Given the description of an element on the screen output the (x, y) to click on. 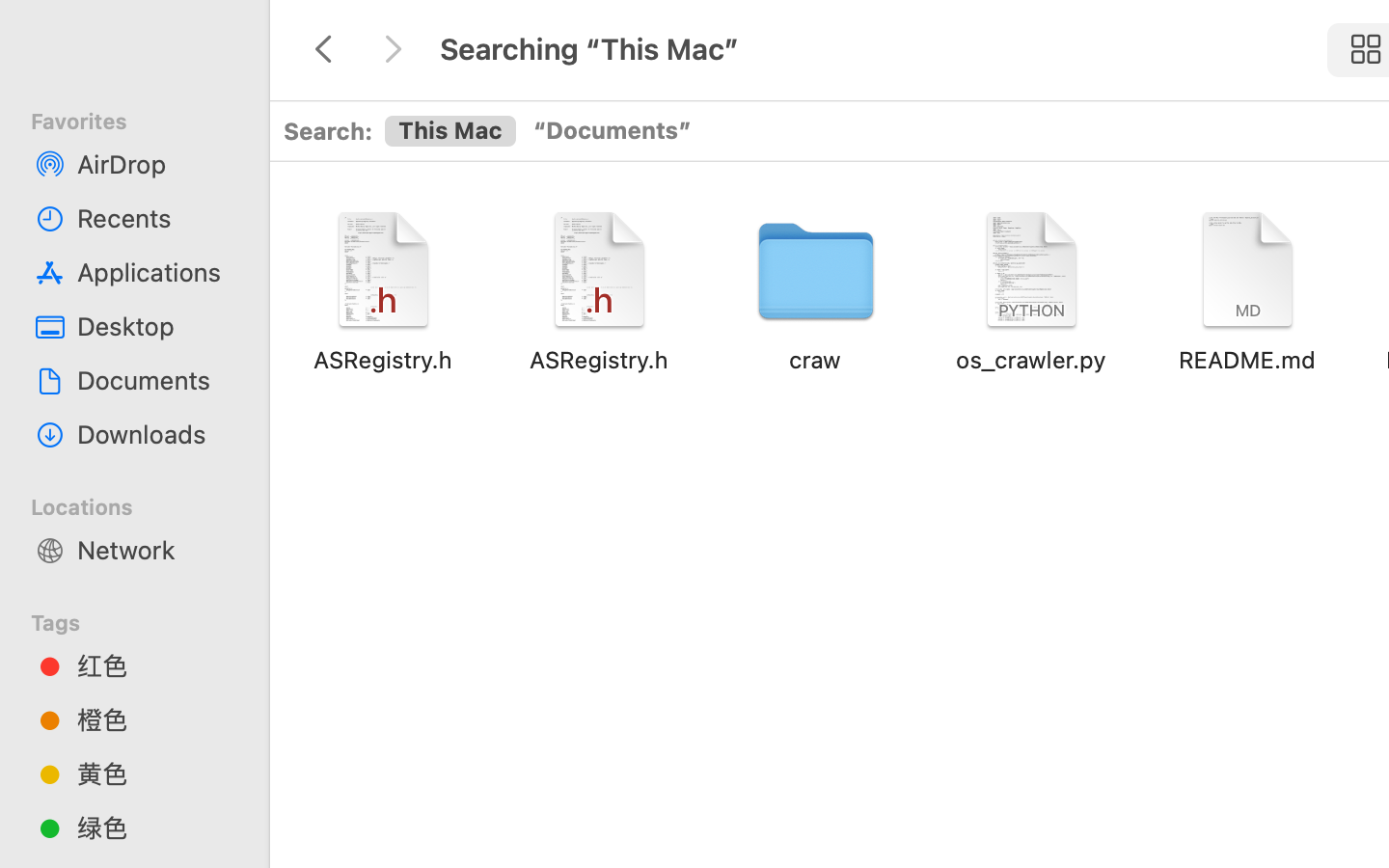
绿色 Element type: AXStaticText (155, 827)
Recents Element type: AXStaticText (155, 217)
Network Element type: AXStaticText (155, 549)
黄色 Element type: AXStaticText (155, 773)
1 Element type: AXRadioButton (449, 131)
